Given the description of an element on the screen output the (x, y) to click on. 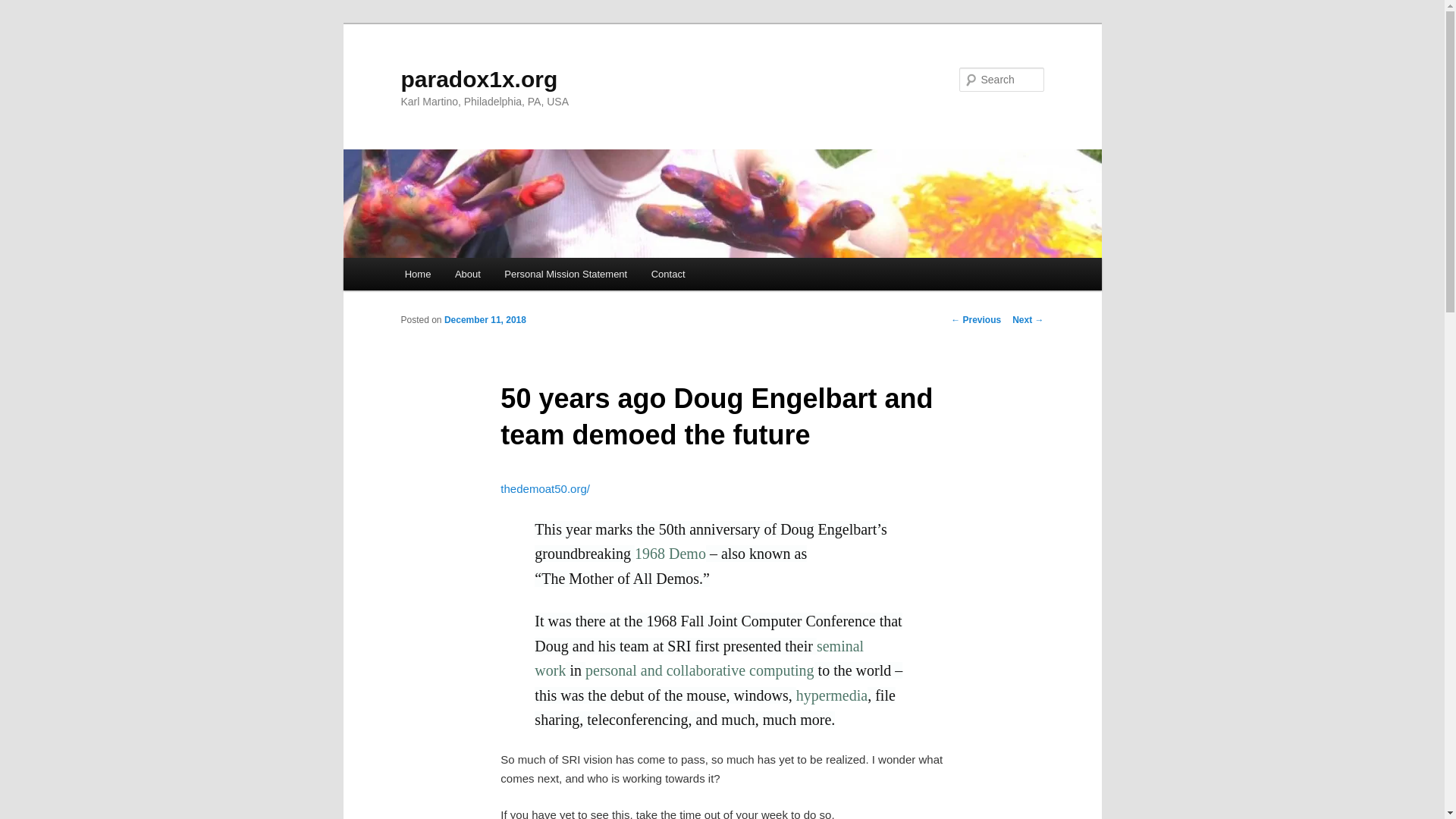
hypermedia (831, 696)
personal and collaborative computing (699, 670)
seminal work (698, 659)
Personal Mission Statement (566, 273)
December 11, 2018 (484, 319)
Search (24, 8)
paradox1x.org (478, 78)
About (467, 273)
1968 Demo (670, 554)
Home (417, 273)
Contact (668, 273)
6:22 am (484, 319)
